Given the description of an element on the screen output the (x, y) to click on. 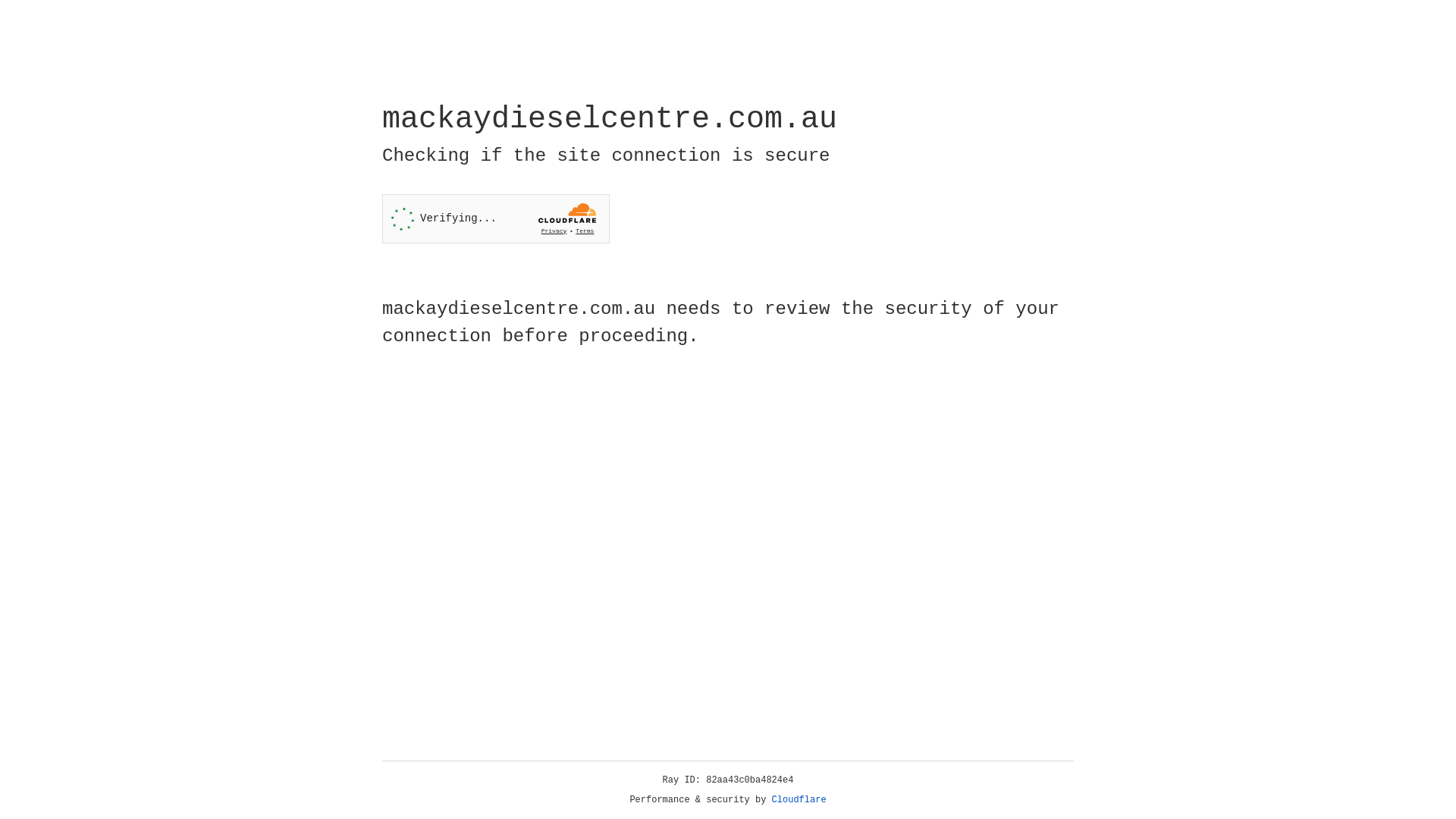
Widget containing a Cloudflare security challenge Element type: hover (495, 218)
Cloudflare Element type: text (798, 799)
